Given the description of an element on the screen output the (x, y) to click on. 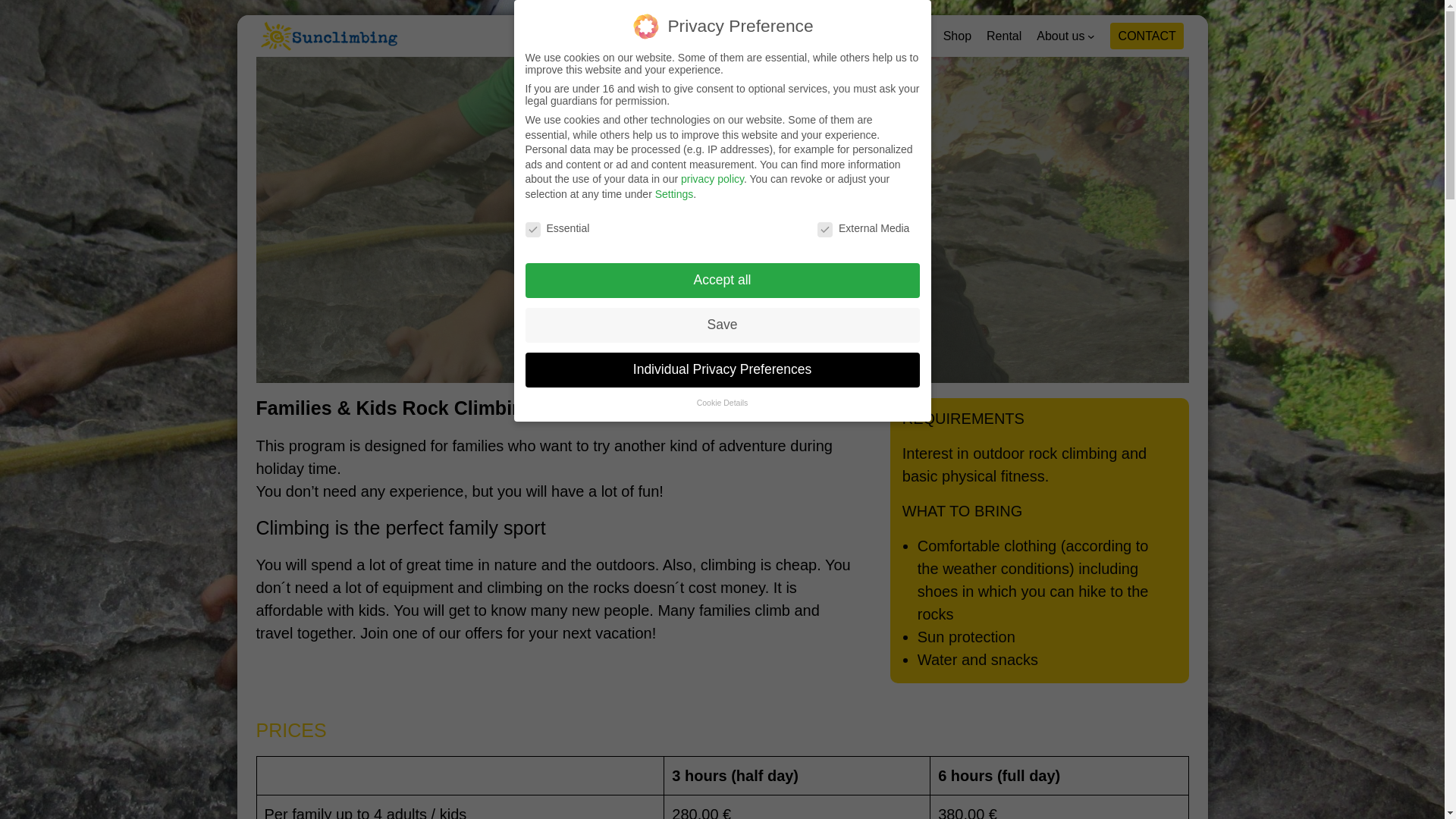
Guiding (642, 36)
Courses (710, 36)
About us (1060, 36)
Climbing Specials (879, 36)
Rental (1004, 36)
Holidays (783, 36)
Shop (957, 36)
CONTACT (1147, 36)
